Given the description of an element on the screen output the (x, y) to click on. 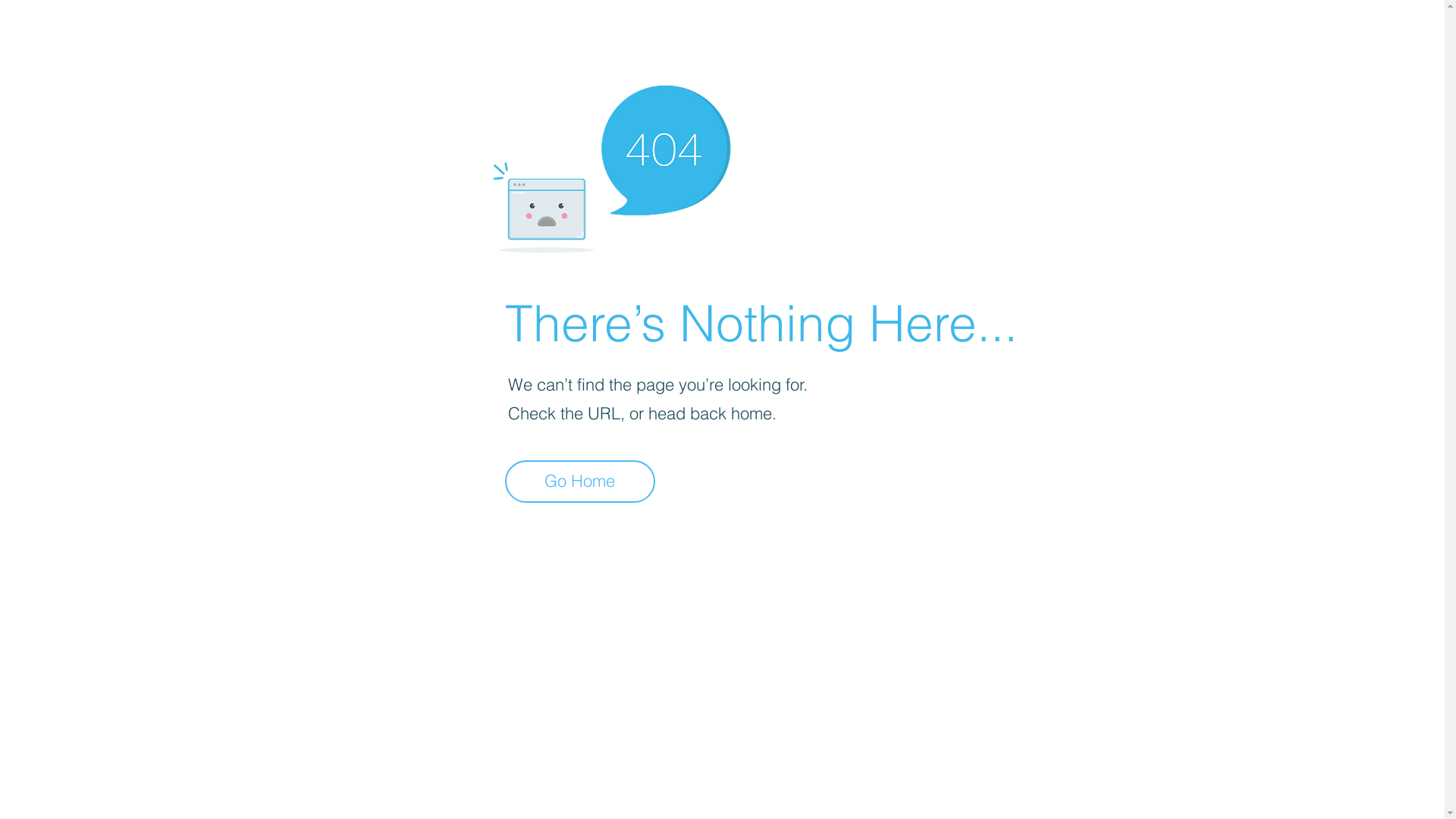
Go Home Element type: text (580, 481)
404-icon_2.png Element type: hover (610, 164)
